Given the description of an element on the screen output the (x, y) to click on. 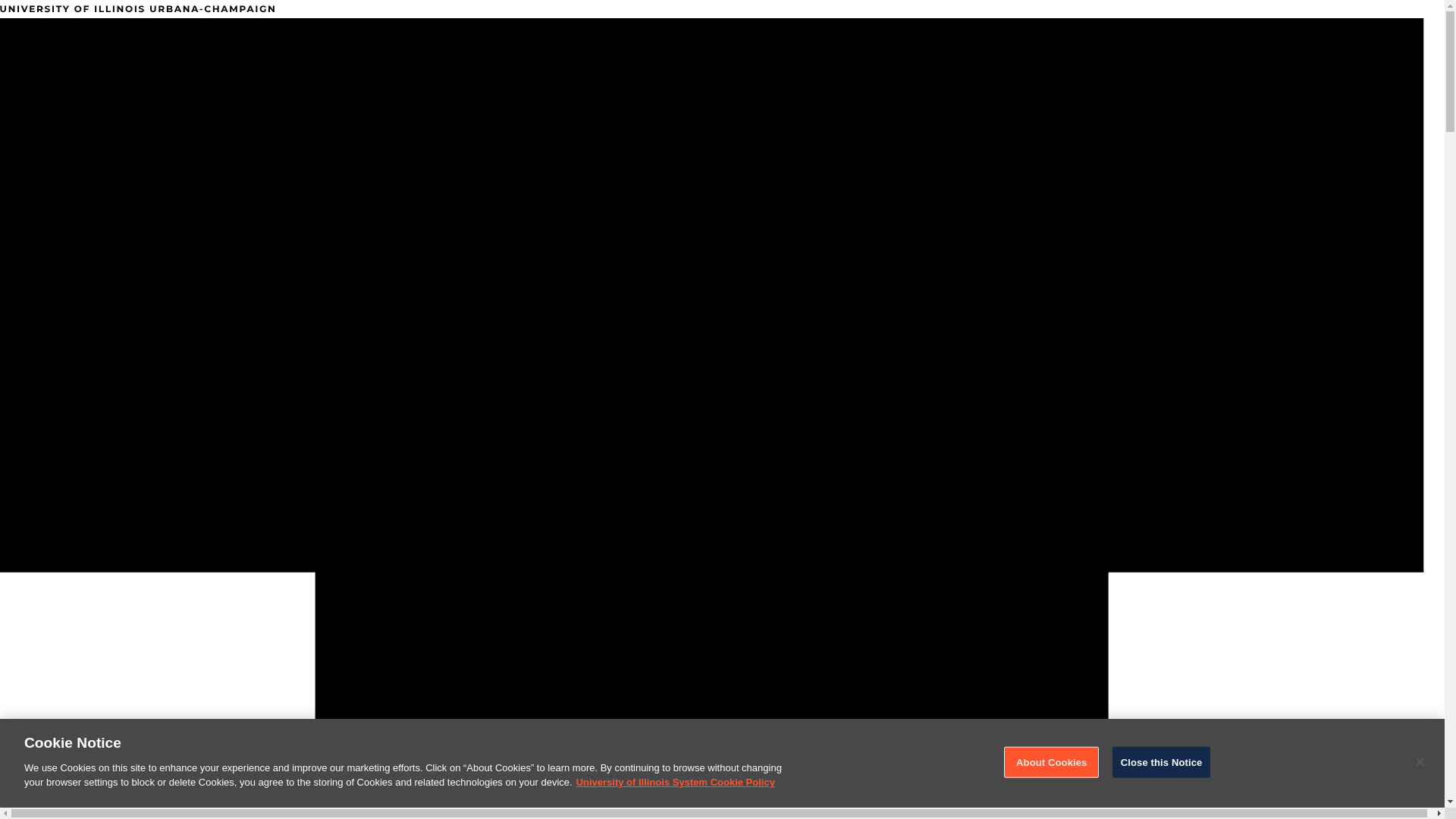
University of Illinois System Cookie Policy (675, 781)
Close this Notice (1161, 762)
About Cookies (1051, 762)
